Given the description of an element on the screen output the (x, y) to click on. 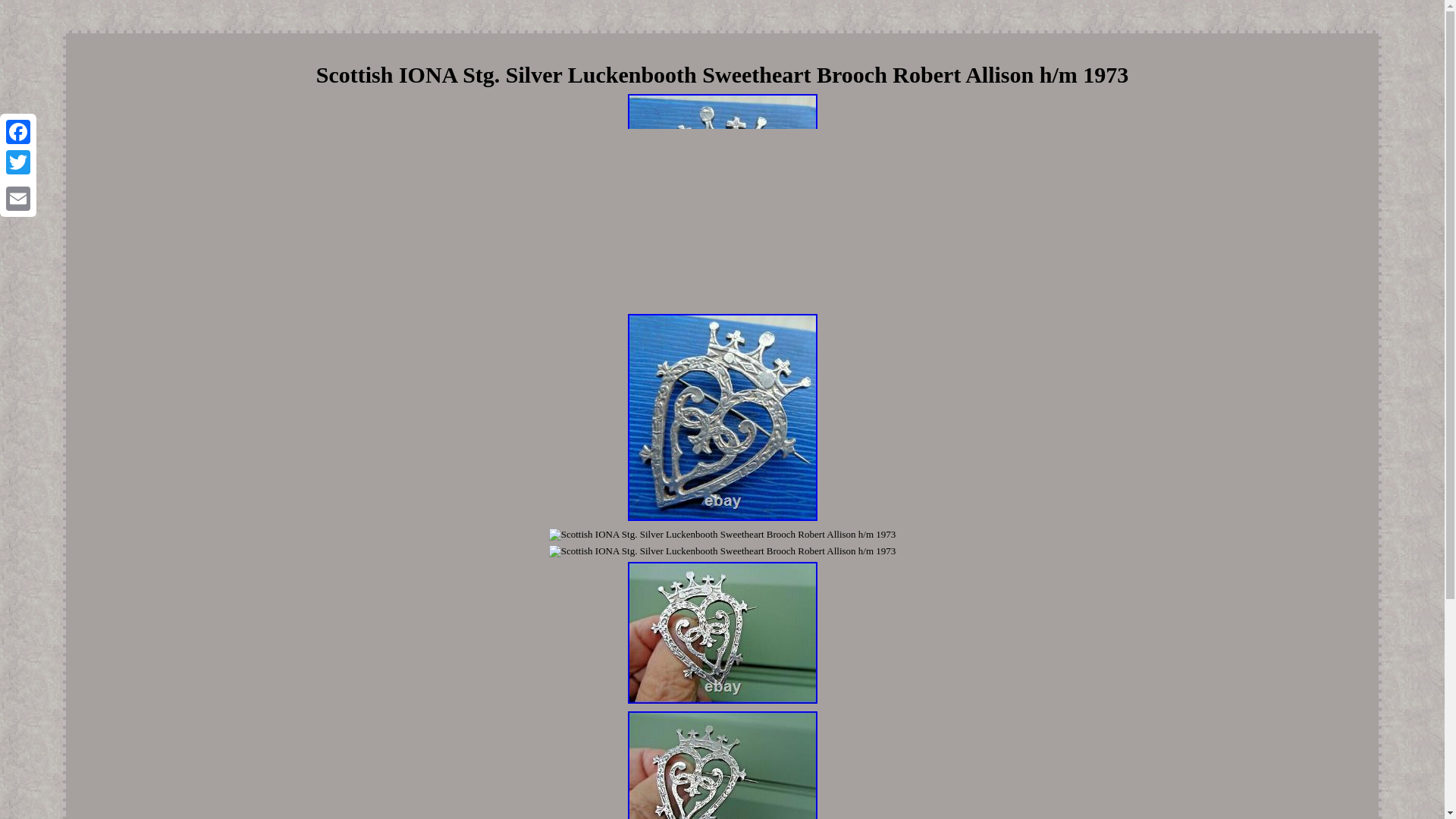
Twitter (17, 162)
Email (17, 198)
Facebook (17, 132)
